Given the description of an element on the screen output the (x, y) to click on. 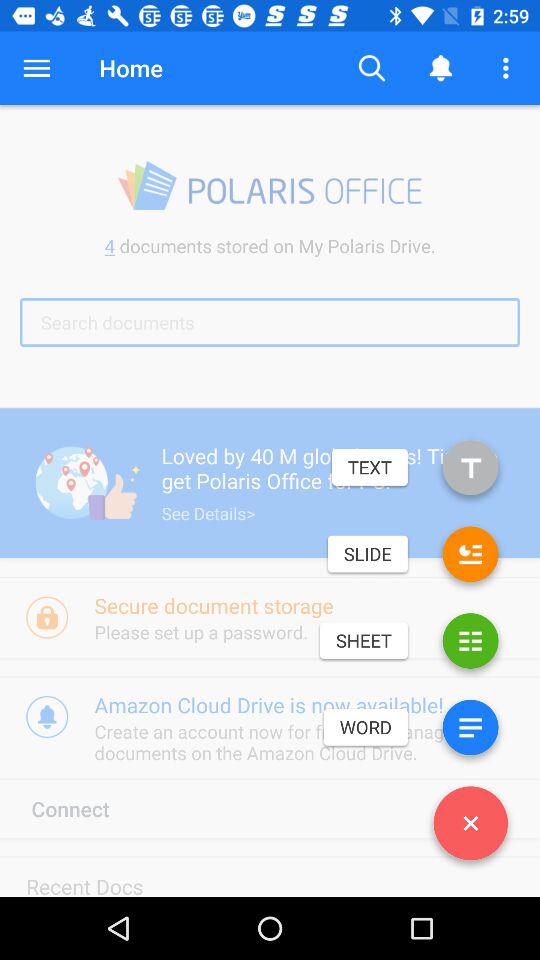
open icon to the right of the connect item (470, 827)
